Given the description of an element on the screen output the (x, y) to click on. 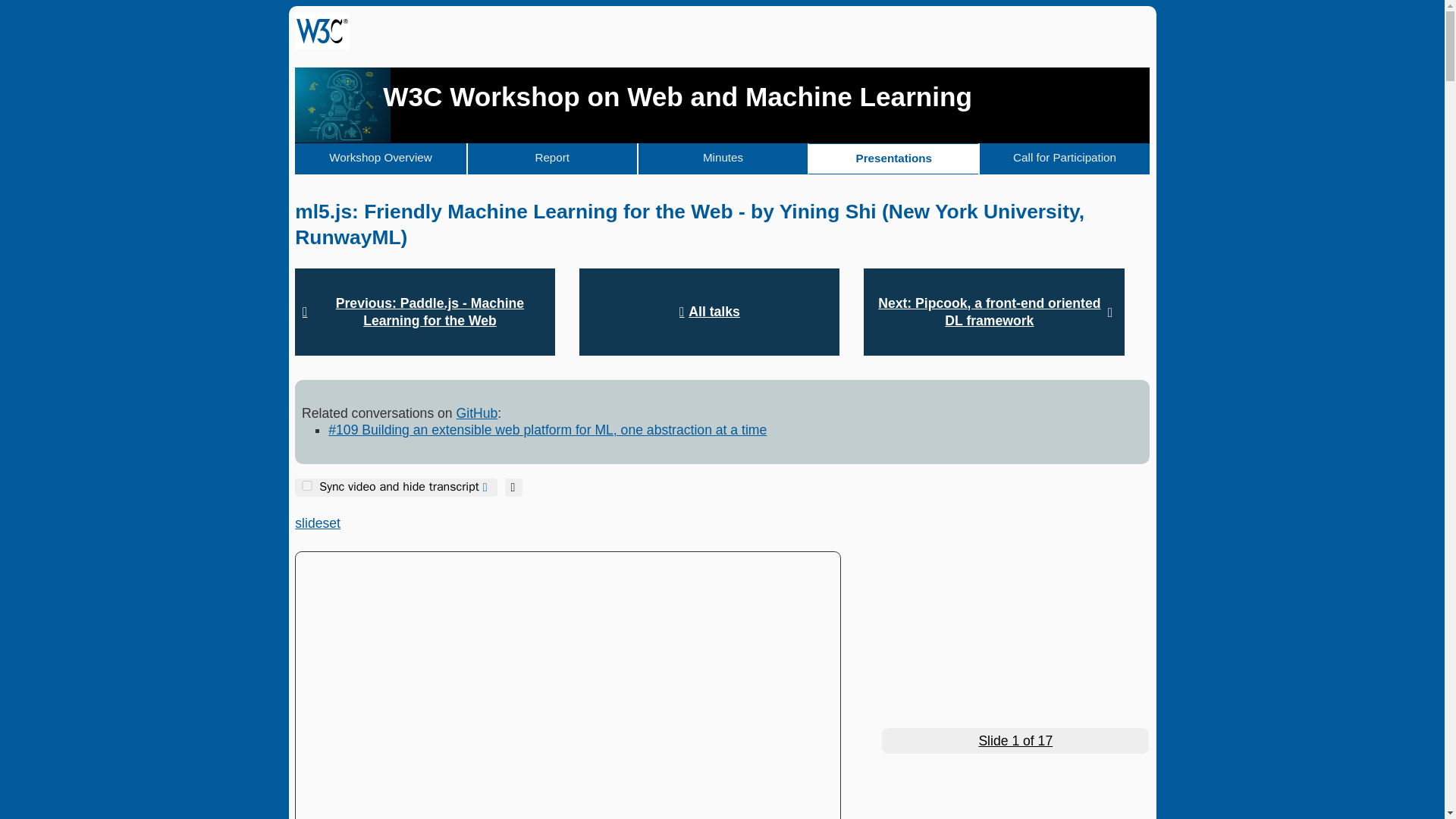
Report (551, 158)
GitHub (477, 412)
Minutes (722, 158)
slideset (317, 522)
Align to top of window (513, 487)
All talks (709, 311)
Workshop Overview (380, 158)
Previous: Paddle.js - Machine Learning for the Web (424, 311)
on (307, 485)
